Given the description of an element on the screen output the (x, y) to click on. 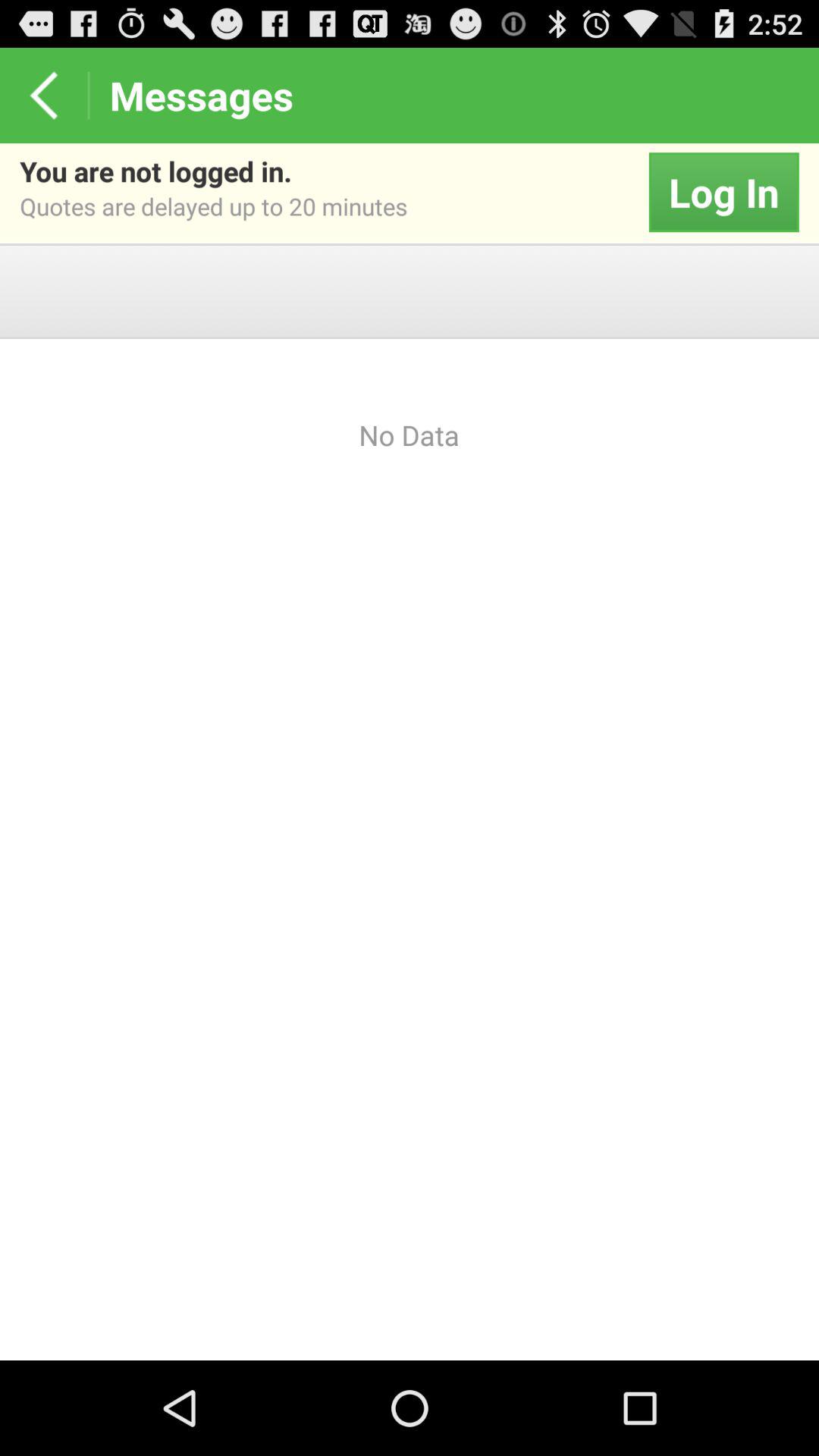
turn off item to the left of the messages item (43, 95)
